Given the description of an element on the screen output the (x, y) to click on. 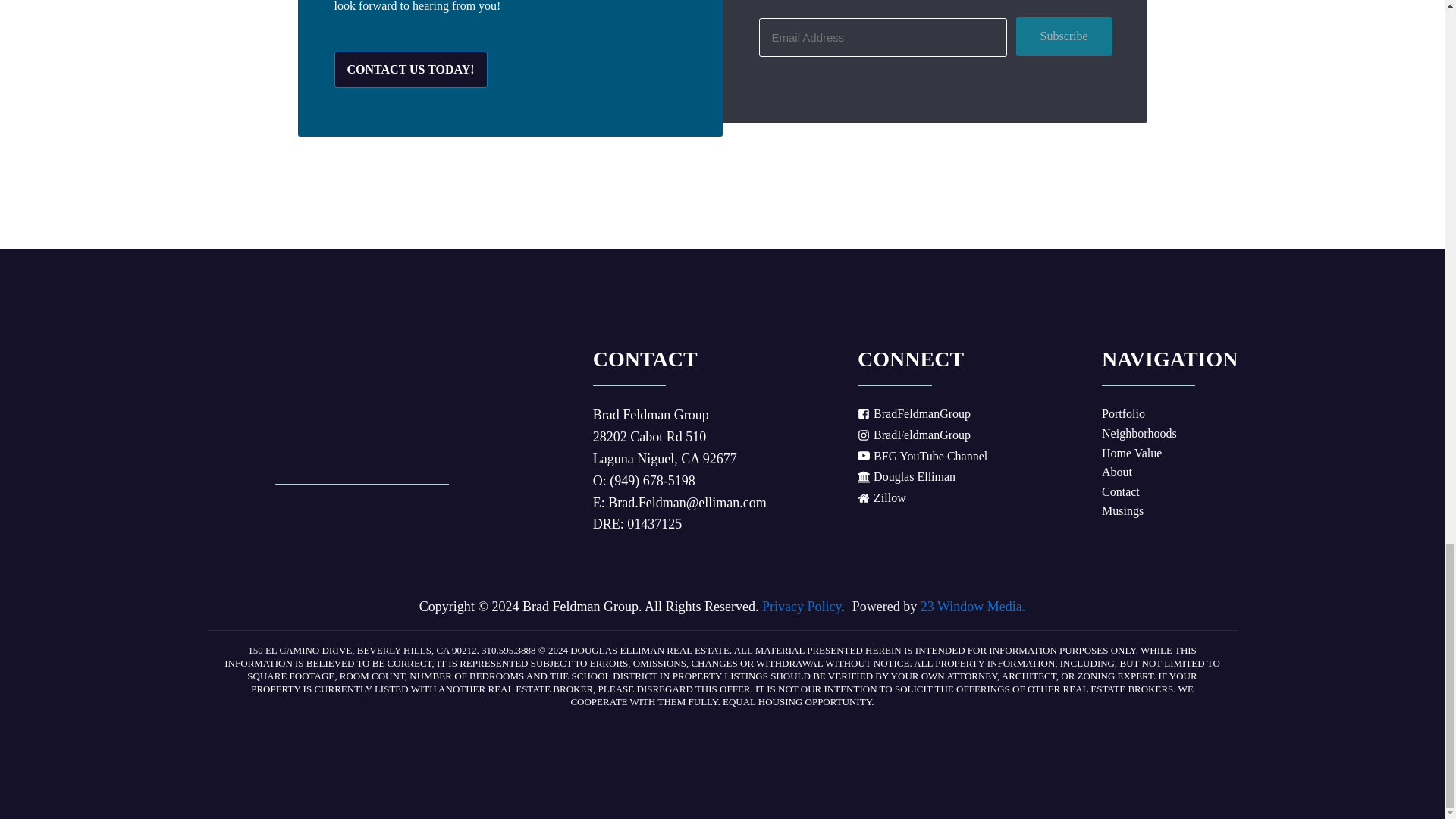
Portfolio (1123, 414)
Musings (1122, 510)
23 Window Media. (972, 606)
Privacy Policy (801, 606)
About (1117, 472)
BradFeldmanGroup (914, 435)
Subscribe (1064, 36)
Contact (1121, 492)
Home Value (1131, 453)
Douglas Elliman (906, 476)
BradFeldmanGroup (914, 414)
BFG YouTube Channel (922, 456)
CONTACT US TODAY! (409, 69)
Zillow (881, 497)
Subscribe (1064, 36)
